Given the description of an element on the screen output the (x, y) to click on. 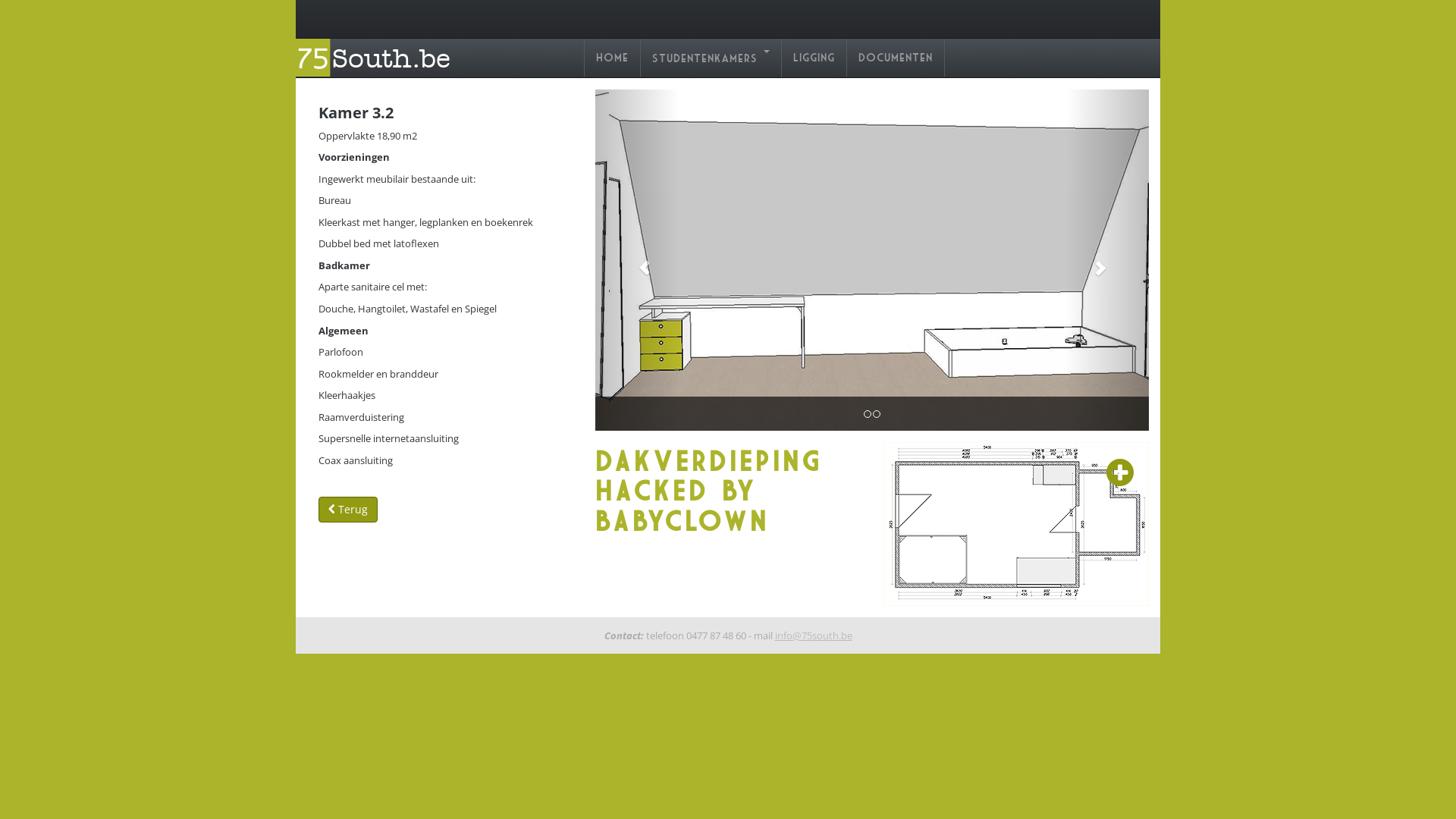
Terug Element type: text (347, 509)
32b-_-plattegrond_s Element type: hover (1015, 523)
Home Element type: text (612, 57)
Documenten Element type: text (895, 57)
Ligging Element type: text (813, 57)
info@75south.be Element type: text (813, 635)
Studentenkamers Element type: text (710, 57)
75south Element type: hover (377, 62)
